Given the description of an element on the screen output the (x, y) to click on. 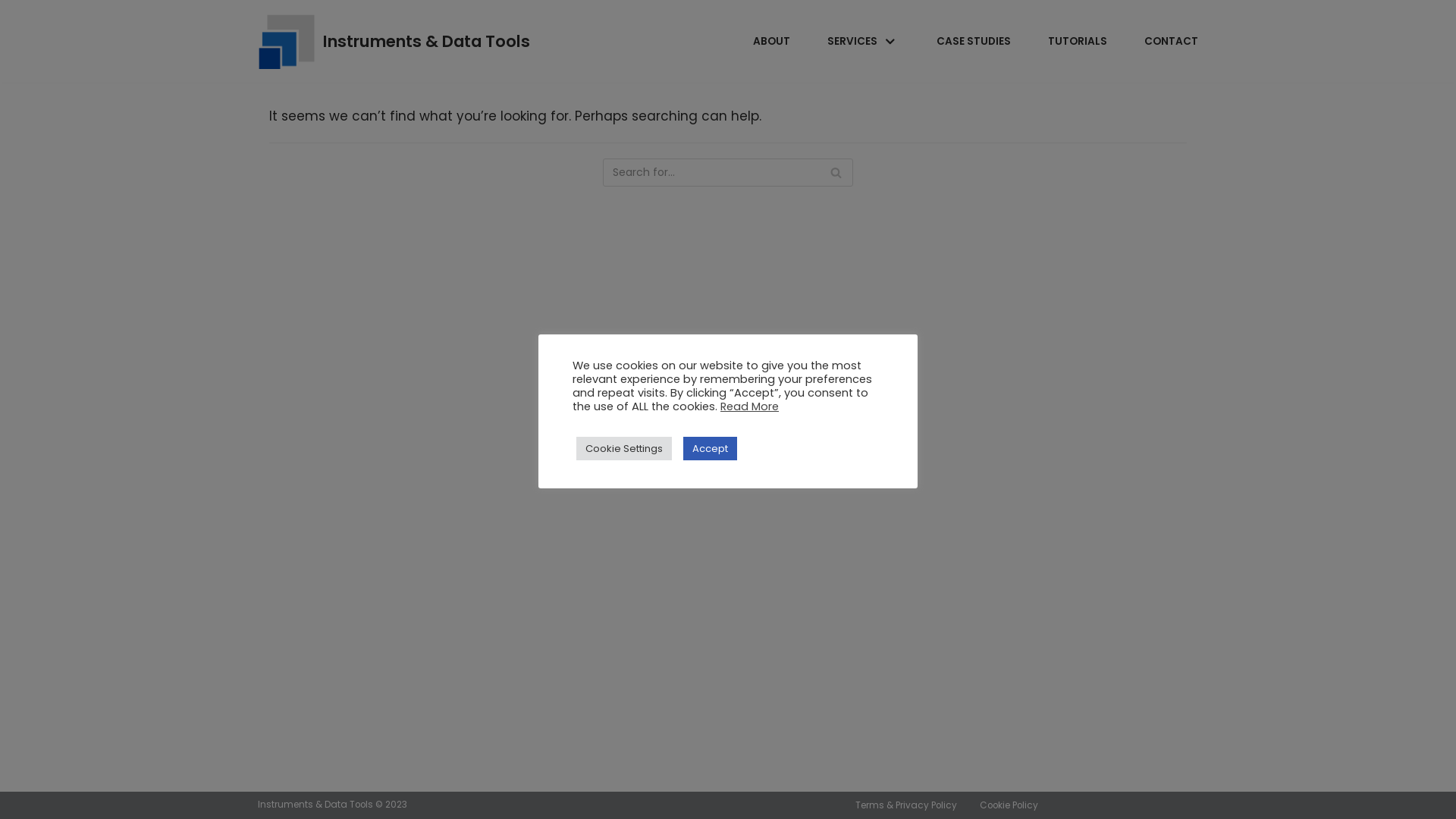
Instruments & Data Tools Element type: text (393, 41)
ABOUT Element type: text (771, 40)
Skip to content Element type: text (15, 7)
Terms & Privacy Policy Element type: text (906, 805)
Read More Element type: text (749, 406)
CASE STUDIES Element type: text (973, 40)
TUTORIALS Element type: text (1077, 40)
CONTACT Element type: text (1171, 40)
SERVICES Element type: text (863, 40)
Cookie Policy Element type: text (1008, 805)
Cookie Settings Element type: text (623, 448)
Accept Element type: text (710, 448)
